Given the description of an element on the screen output the (x, y) to click on. 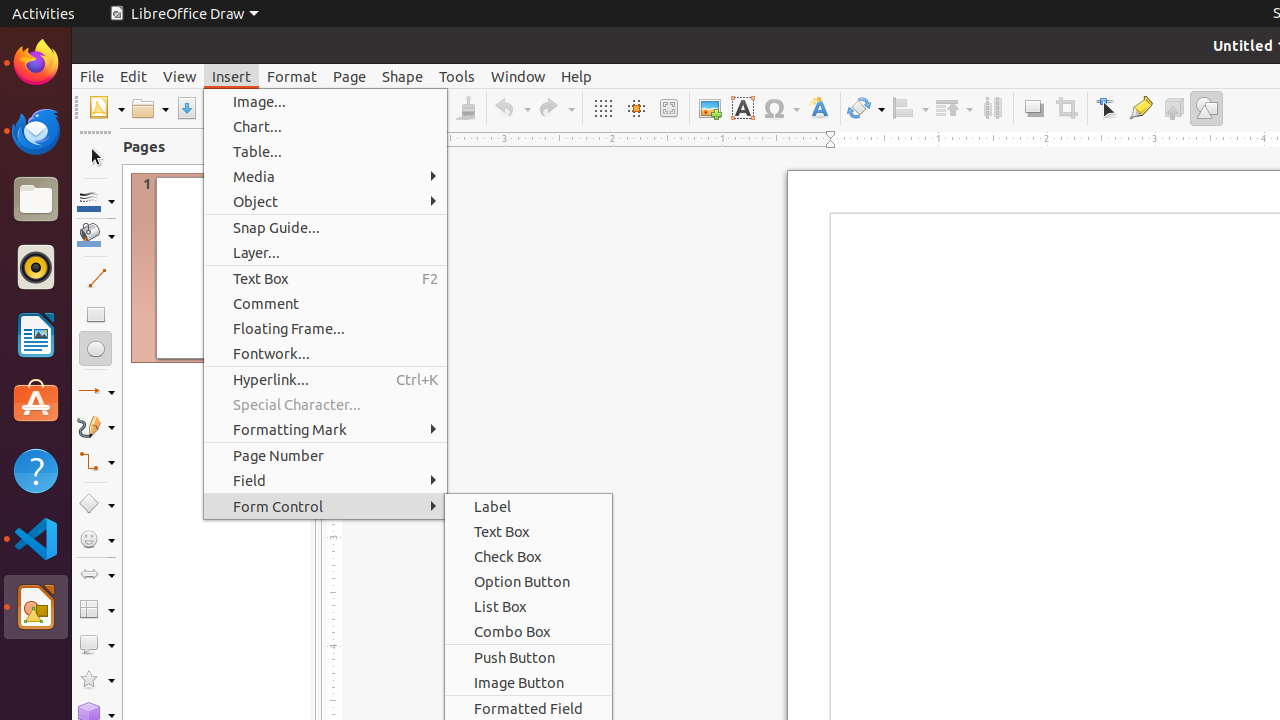
Visual Studio Code Element type: push-button (36, 538)
Zoom & Pan Element type: push-button (668, 108)
Symbol Element type: push-button (781, 108)
Image... Element type: menu-item (325, 101)
LibreOffice Draw Element type: menu (183, 13)
